Given the description of an element on the screen output the (x, y) to click on. 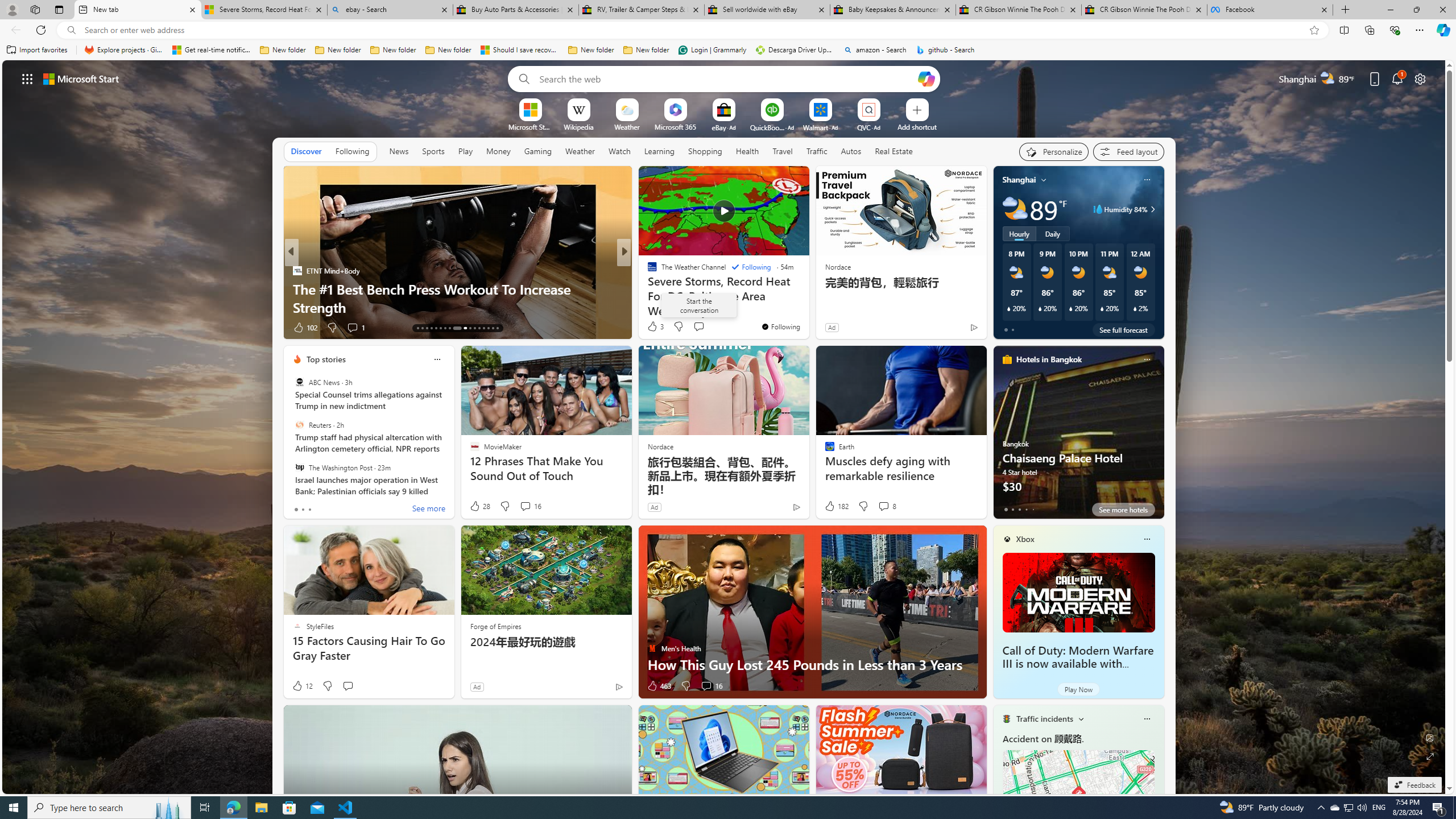
Shanghai (1018, 179)
Class: weather-current-precipitation-glyph (1134, 308)
The Washington Post (299, 466)
AutomationID: tab-21 (454, 328)
Play Now (1078, 689)
